Given the description of an element on the screen output the (x, y) to click on. 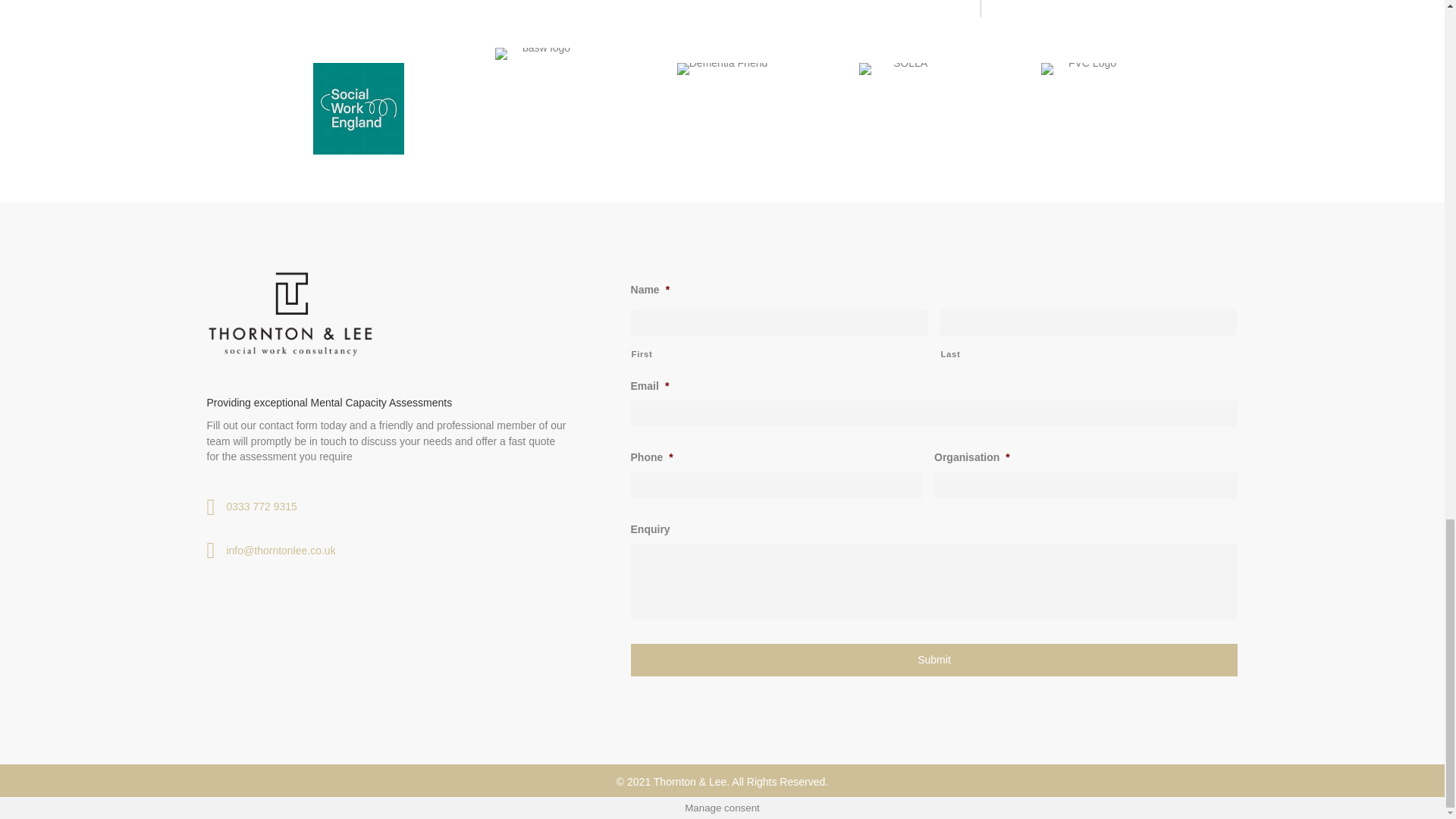
basw logo (540, 81)
Submit (934, 659)
Dementia Friend GIF (722, 88)
Social Work England Logo (358, 108)
SOLLA Accredited png (904, 85)
